Given the description of an element on the screen output the (x, y) to click on. 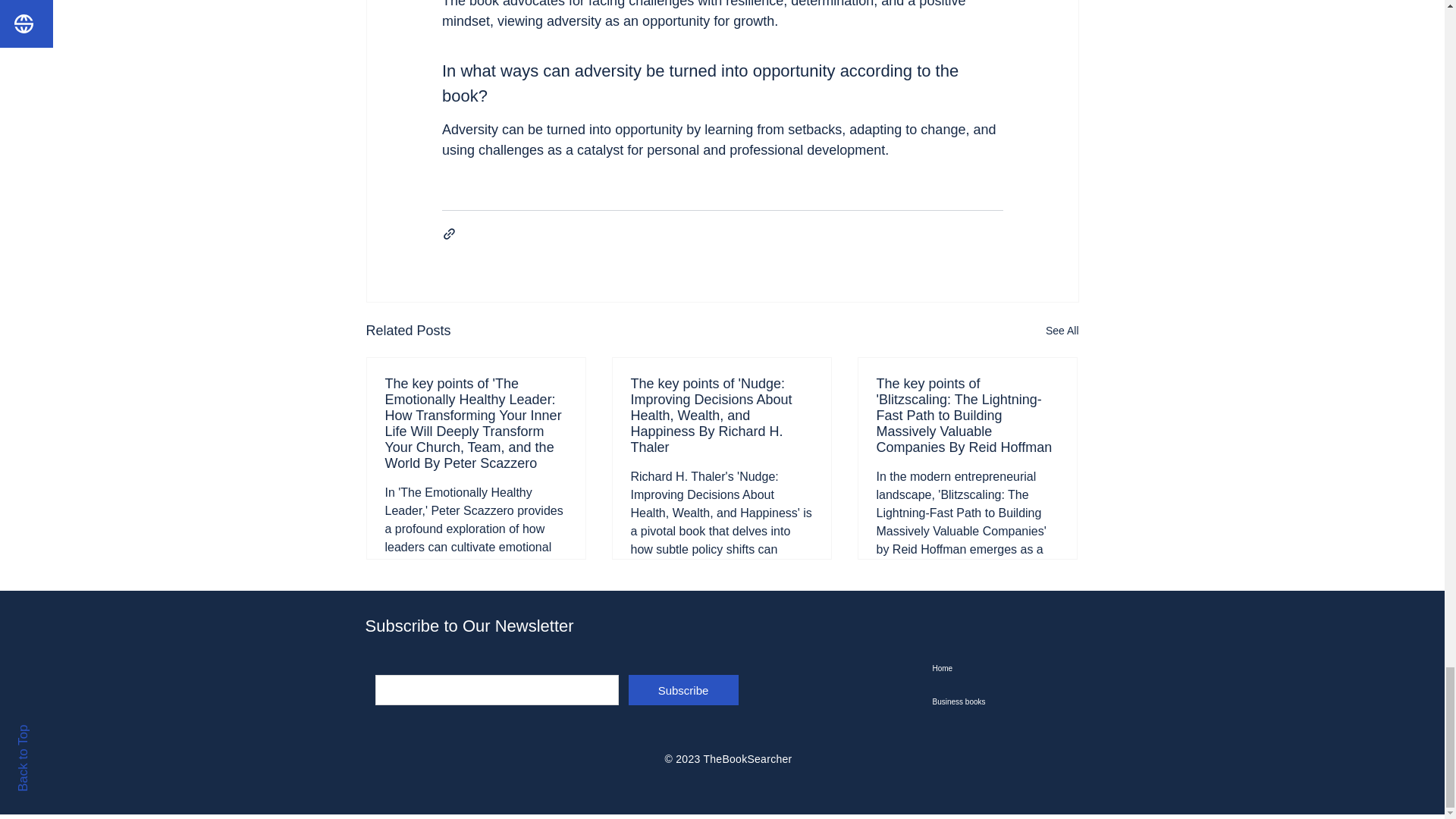
Business books (1009, 702)
Subscribe (682, 689)
See All (1061, 331)
Home (1009, 668)
